Given the description of an element on the screen output the (x, y) to click on. 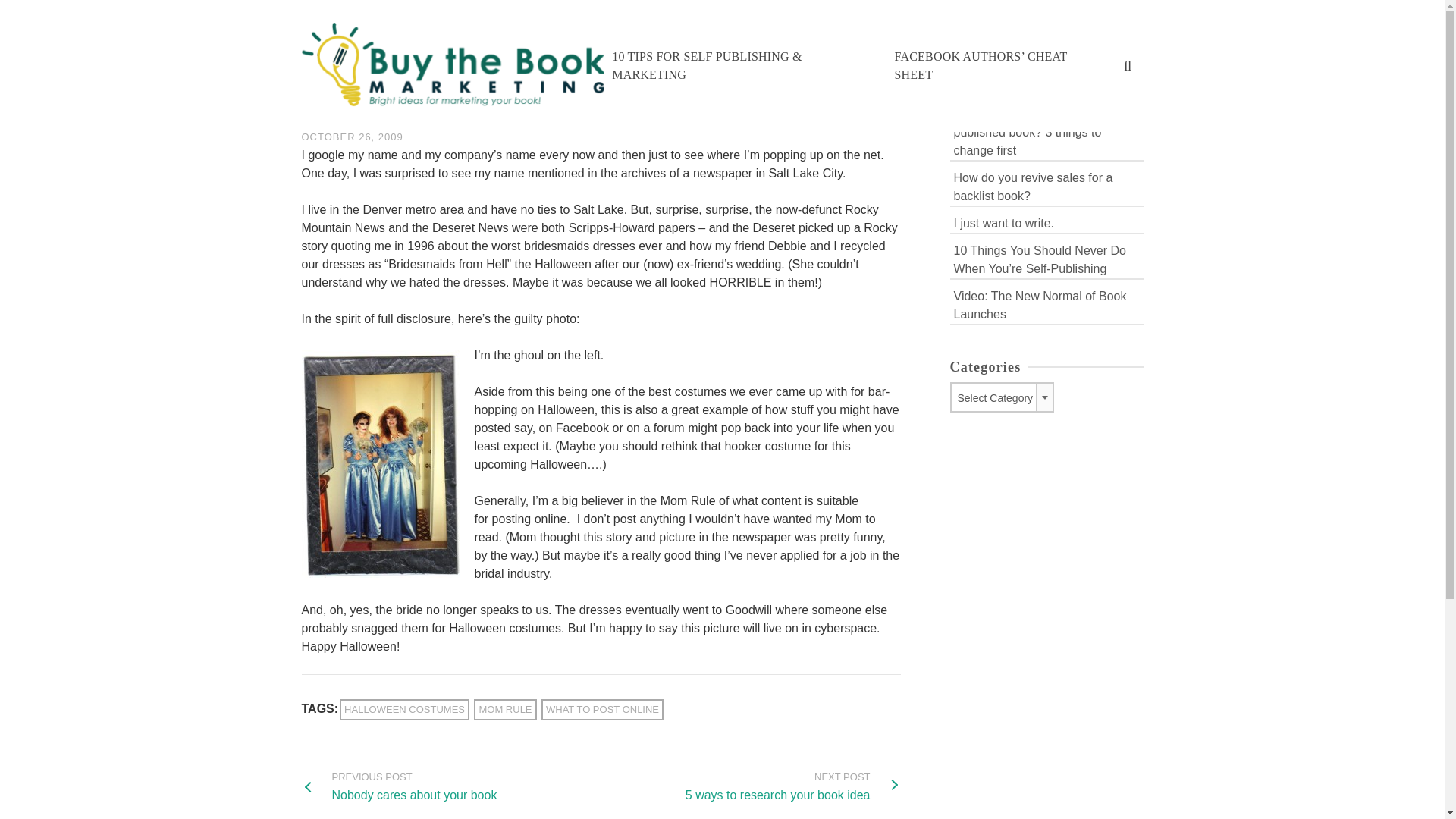
MOM RULE (399, 786)
Video: The New Normal of Book Launches (504, 709)
SERVICES (793, 786)
How do you revive sales for a backlist book? (1045, 304)
I just want to write. (684, 24)
CONTACT (1045, 186)
BLOG (1045, 222)
ABOUT MARY (957, 24)
VIDEO TIPS (871, 24)
HALLOWEEN COSTUMES (571, 24)
Select Category (785, 24)
HOME (403, 709)
